Given the description of an element on the screen output the (x, y) to click on. 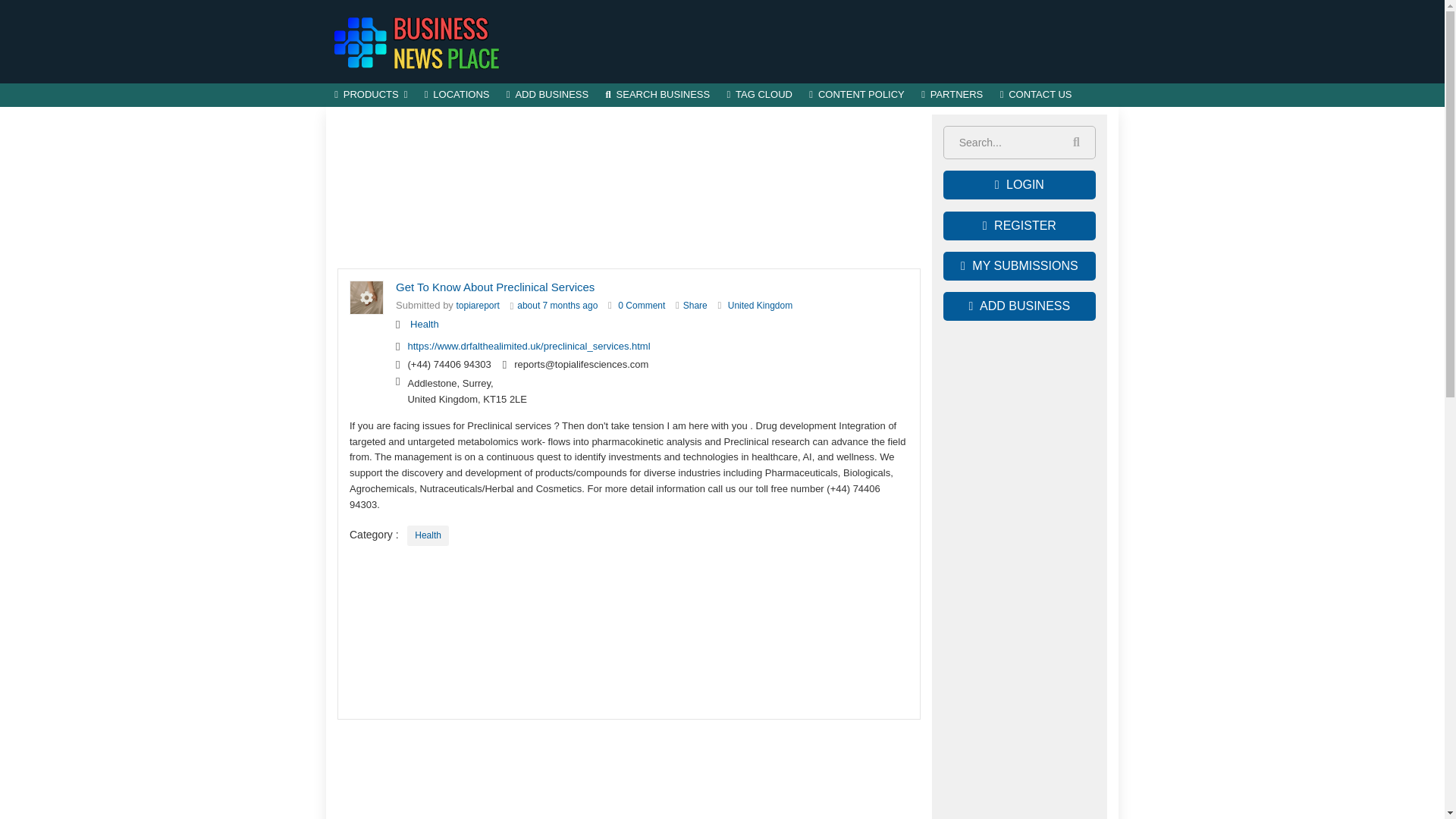
Advertisement (842, 41)
PARTNERS (951, 95)
PRODUCTS (371, 95)
Health (427, 535)
topiareports (478, 305)
TAG CLOUD (758, 95)
LOCATIONS (456, 95)
MY SUBMISSIONS (1019, 265)
CONTENT POLICY (856, 95)
Share (694, 305)
